Given the description of an element on the screen output the (x, y) to click on. 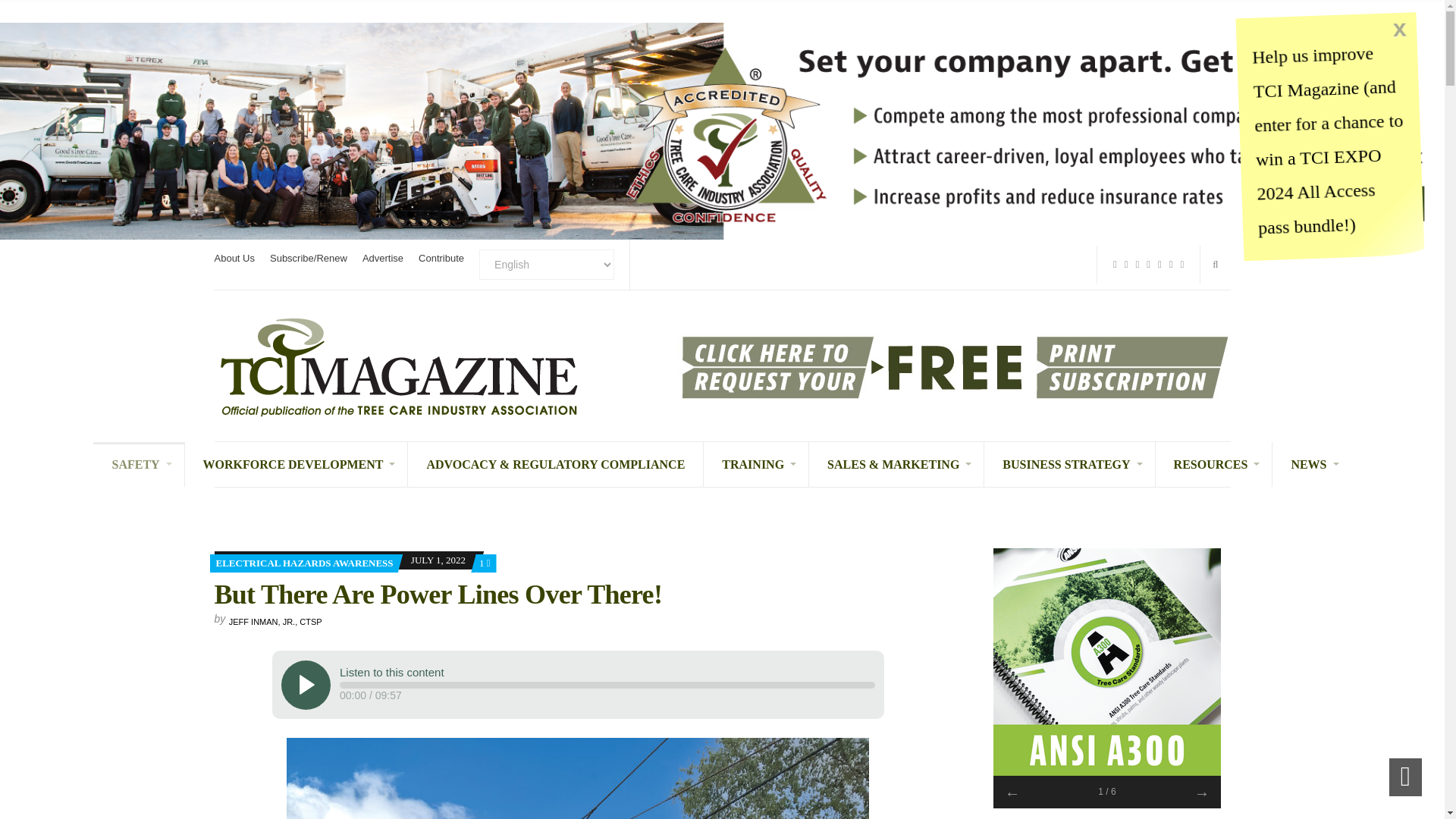
Subscribe to TCI Magazine - Leaderboard (954, 366)
